Given the description of an element on the screen output the (x, y) to click on. 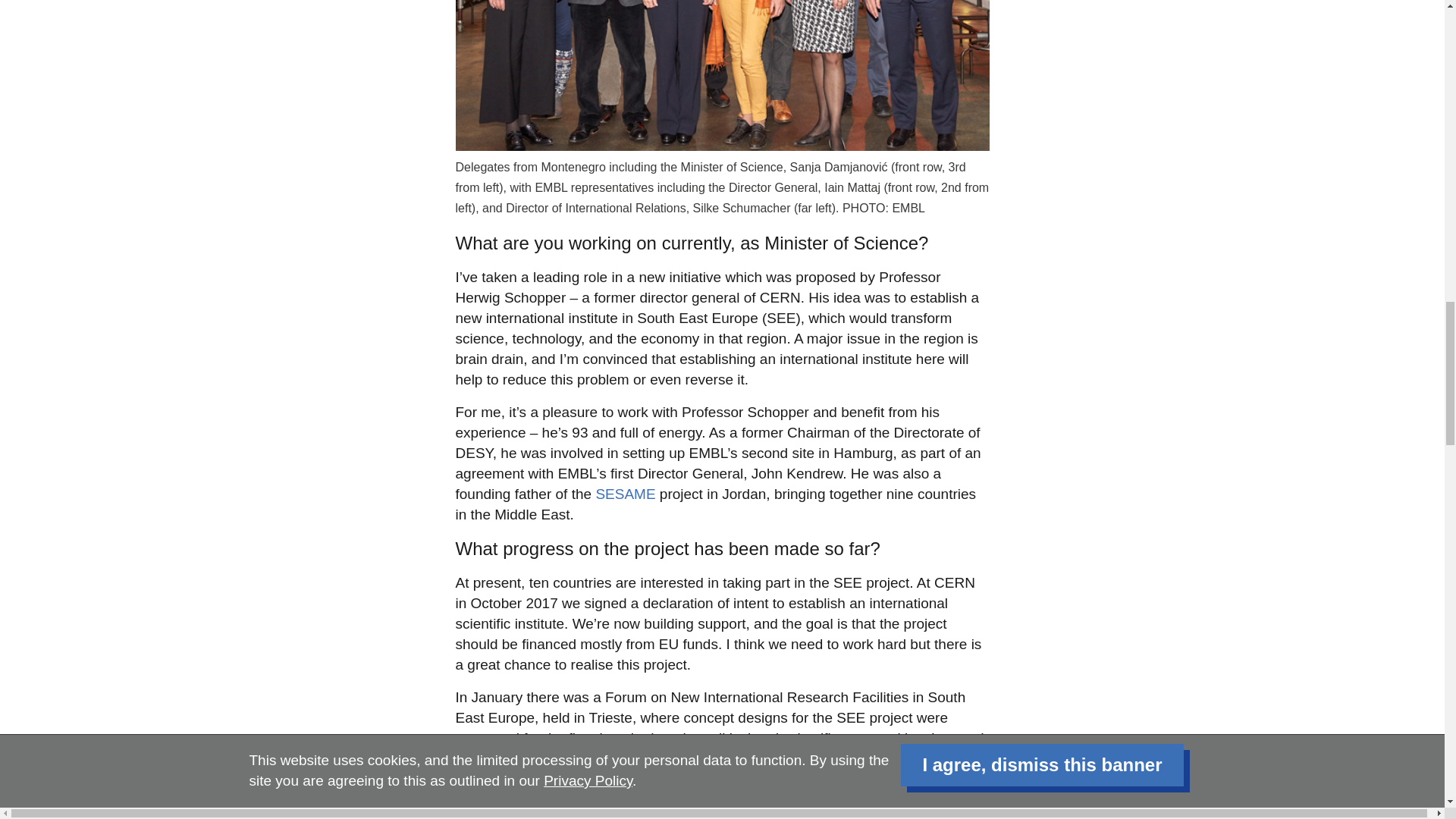
SESAME (625, 494)
